Given the description of an element on the screen output the (x, y) to click on. 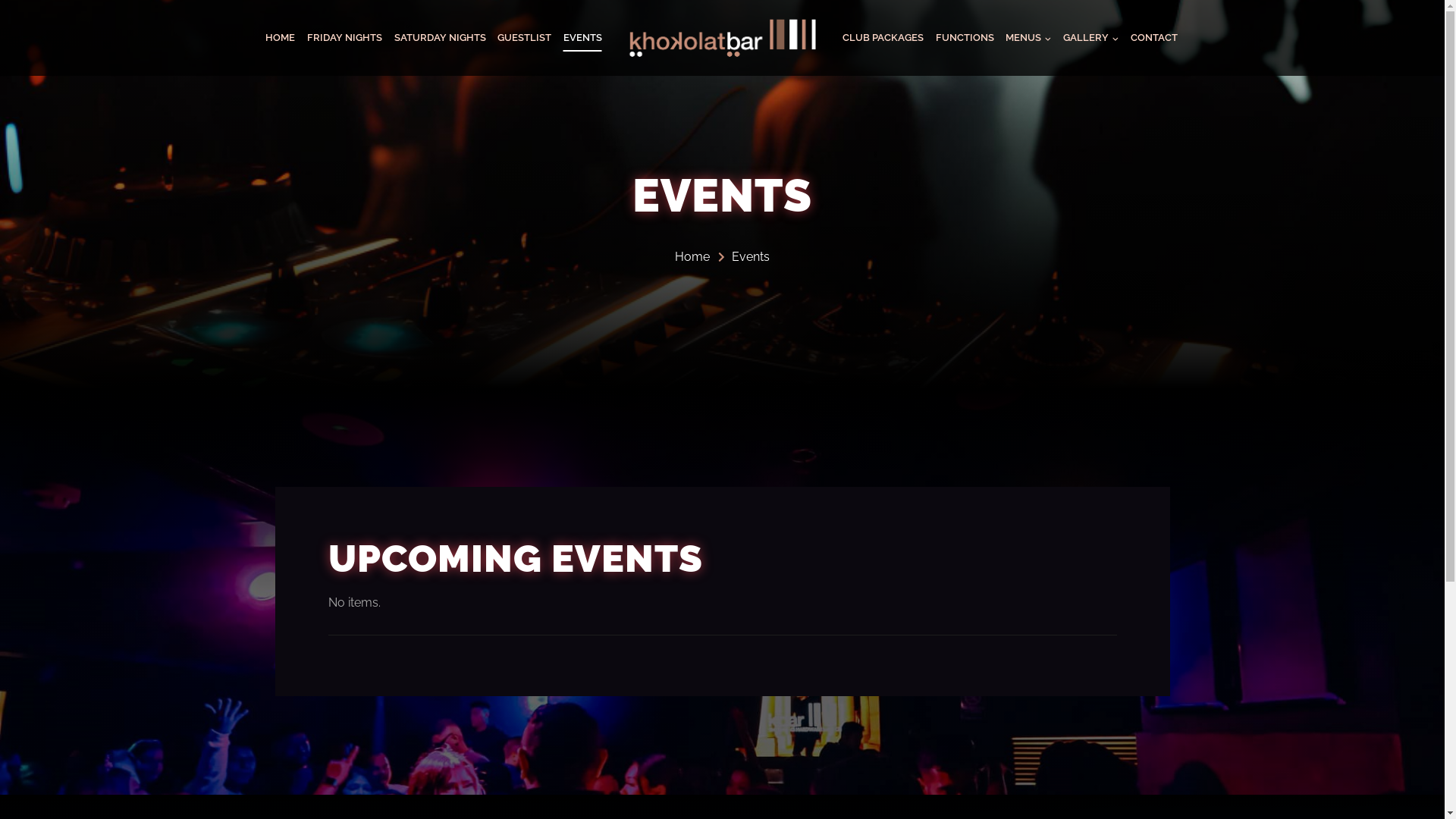
Home Element type: text (691, 256)
MENUS Element type: text (1028, 37)
Events Element type: text (741, 256)
FRIDAY NIGHTS Element type: text (344, 37)
GALLERY Element type: text (1090, 37)
GUESTLIST Element type: text (524, 37)
CLUB PACKAGES Element type: text (883, 37)
EVENTS Element type: text (582, 37)
SATURDAY NIGHTS Element type: text (440, 37)
FUNCTIONS Element type: text (964, 37)
HOME Element type: text (280, 37)
CONTACT Element type: text (1153, 37)
